Given the description of an element on the screen output the (x, y) to click on. 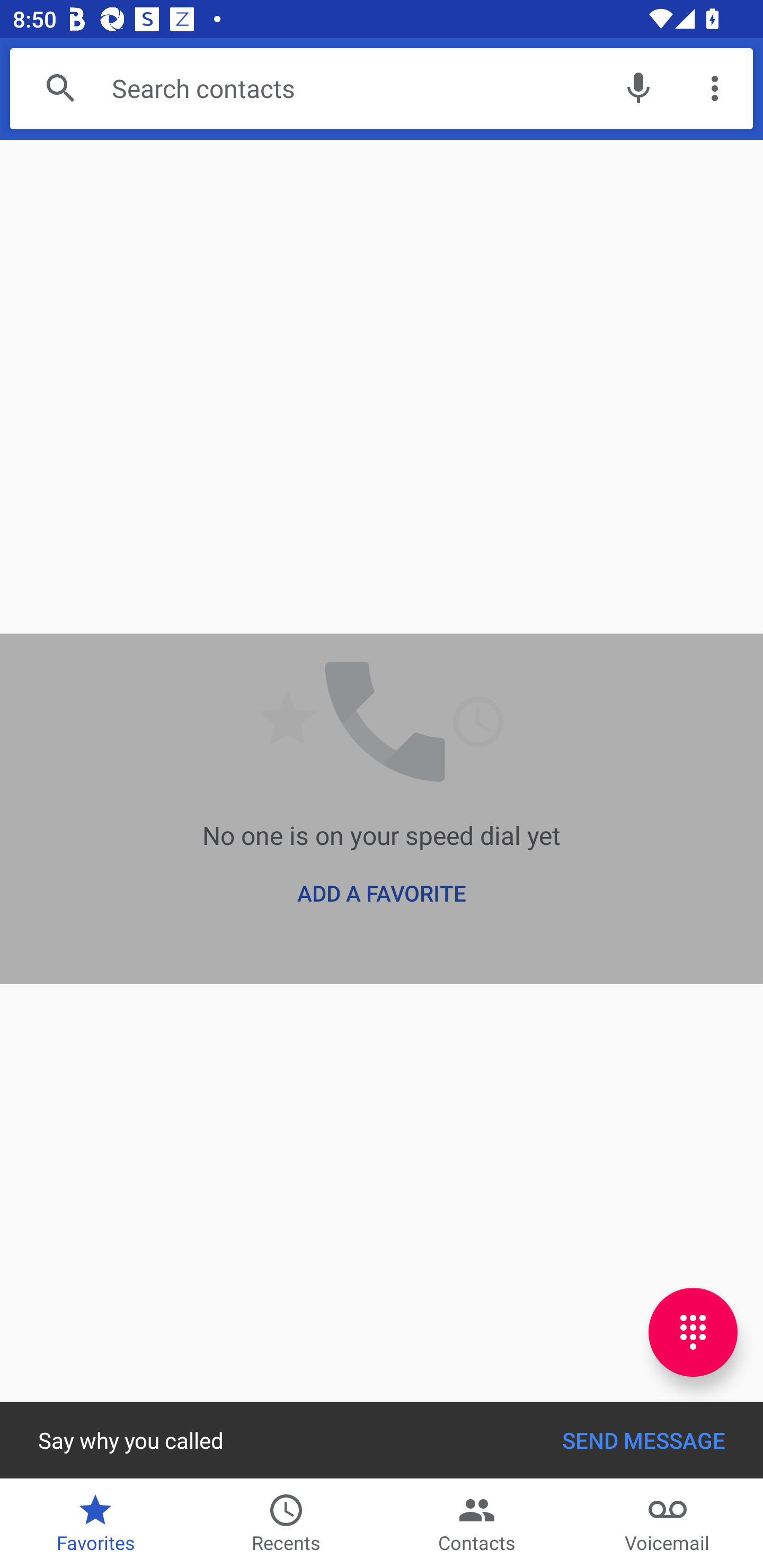
Search contacts Start voice search More options (381, 88)
Start voice search (638, 88)
More options (714, 88)
key pad (692, 1331)
Say why you called SEND MESSAGE (381, 1439)
SEND MESSAGE (642, 1439)
Favorites (95, 1523)
Recents (285, 1523)
Contacts (476, 1523)
Voicemail (667, 1523)
